Given the description of an element on the screen output the (x, y) to click on. 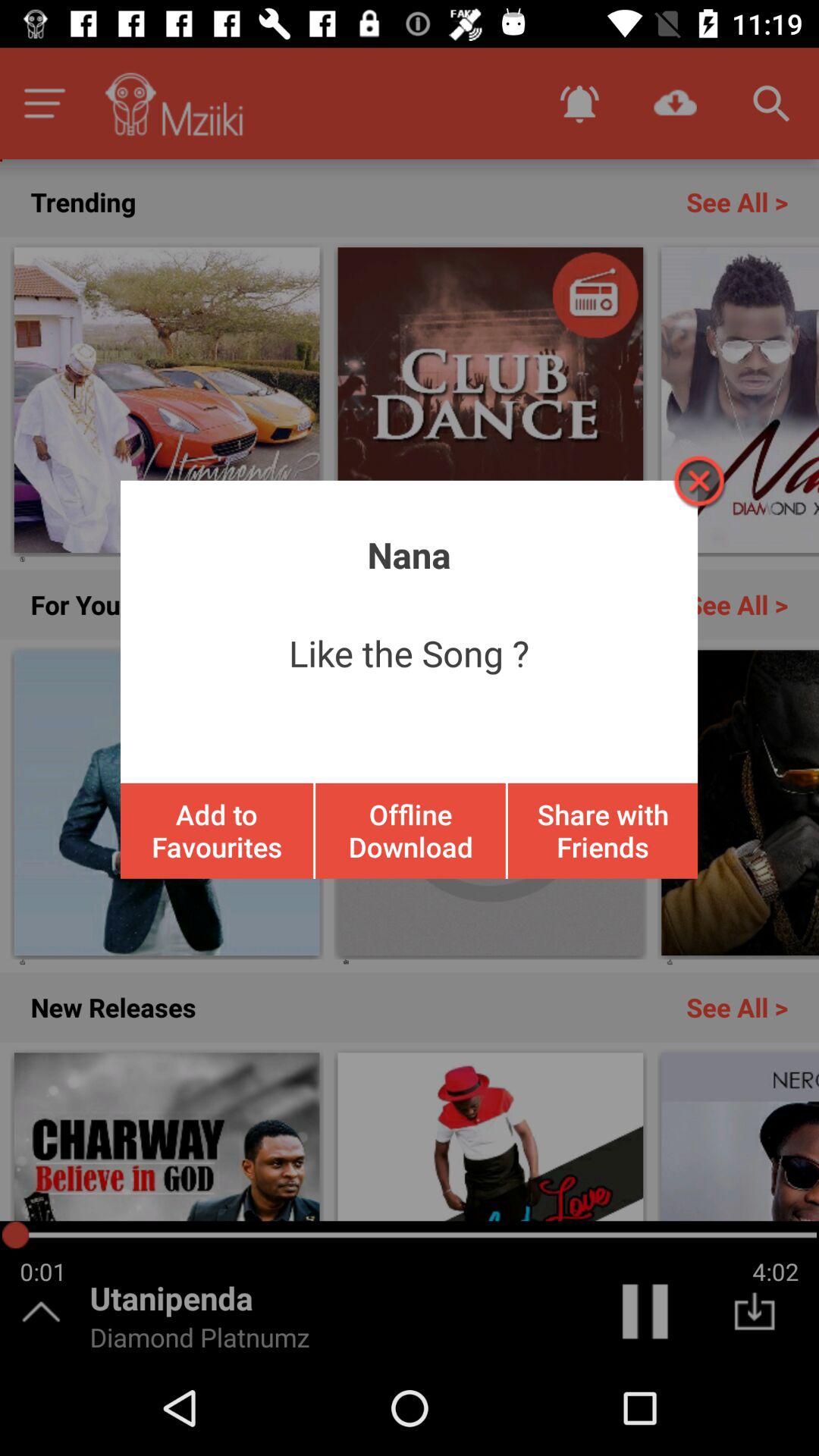
tap the icon below the like the song ? app (410, 830)
